Given the description of an element on the screen output the (x, y) to click on. 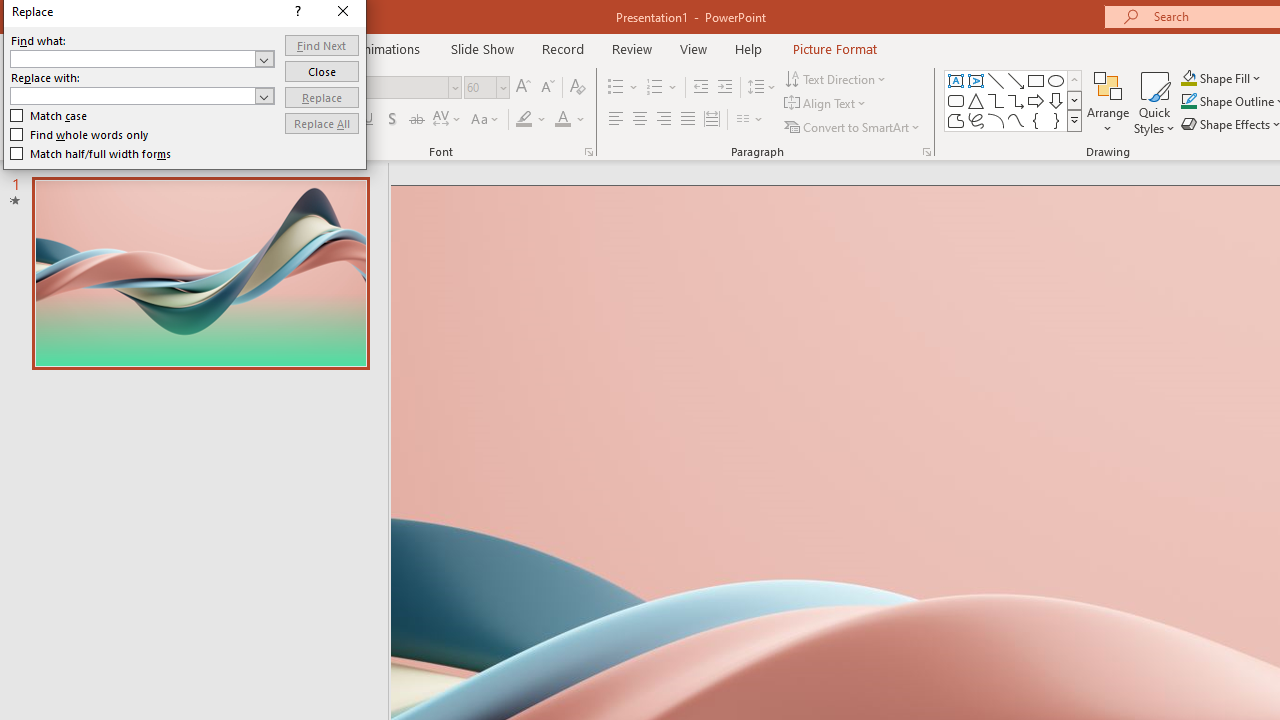
Arc (995, 120)
Reset (243, 103)
Curve (1016, 120)
Line Arrow (1016, 80)
Office Clipboard... (156, 151)
Align Left (616, 119)
Section (254, 126)
Match case (1234, 597)
